Given the description of an element on the screen output the (x, y) to click on. 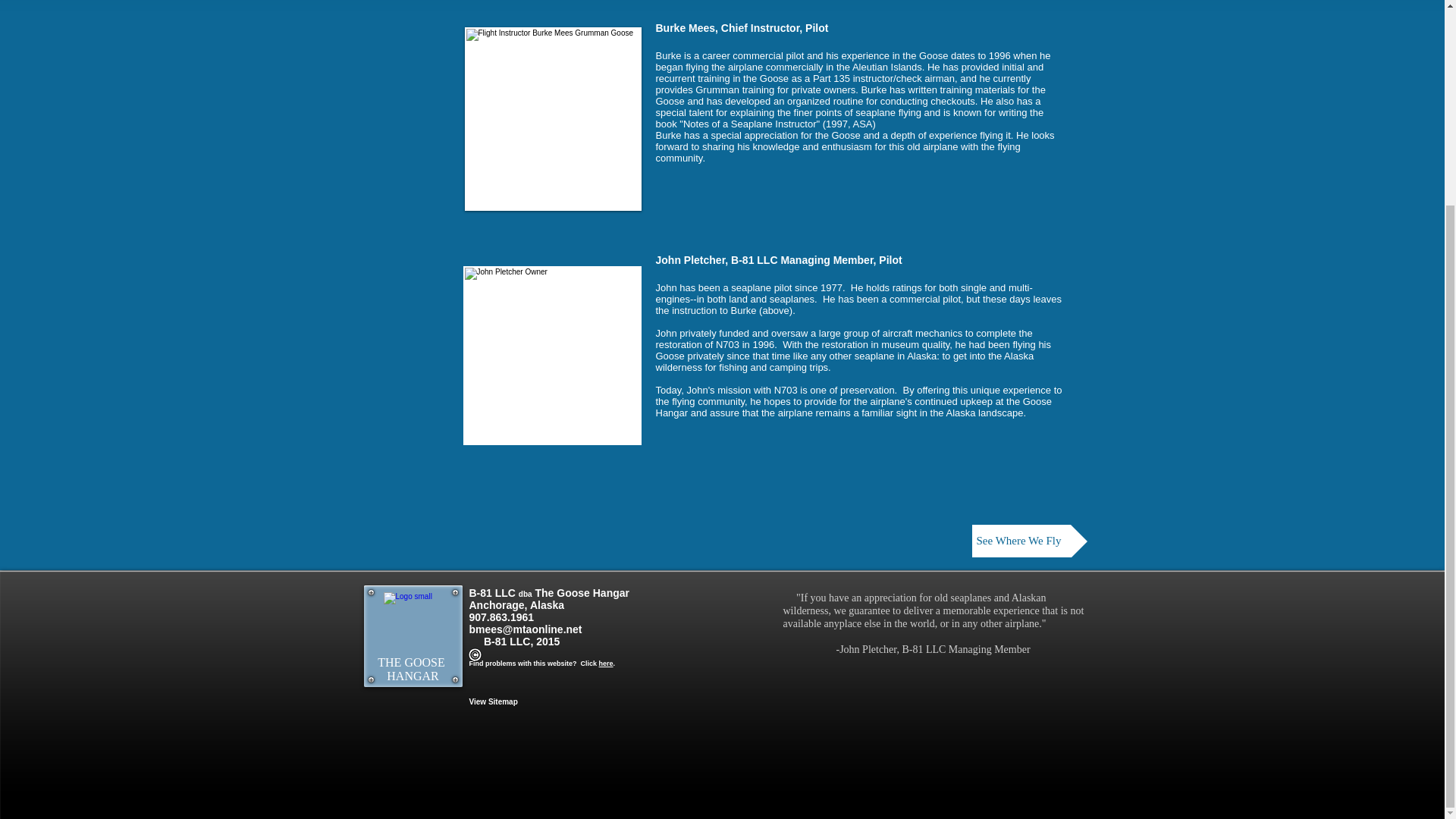
here (605, 663)
Logo.png (413, 621)
Facebook Like (458, 759)
Twitter Tweet (388, 776)
See Where We Fly (1029, 540)
John Pletcher (551, 355)
View Sitemap (492, 701)
Pin to Pinterest (382, 780)
